Given the description of an element on the screen output the (x, y) to click on. 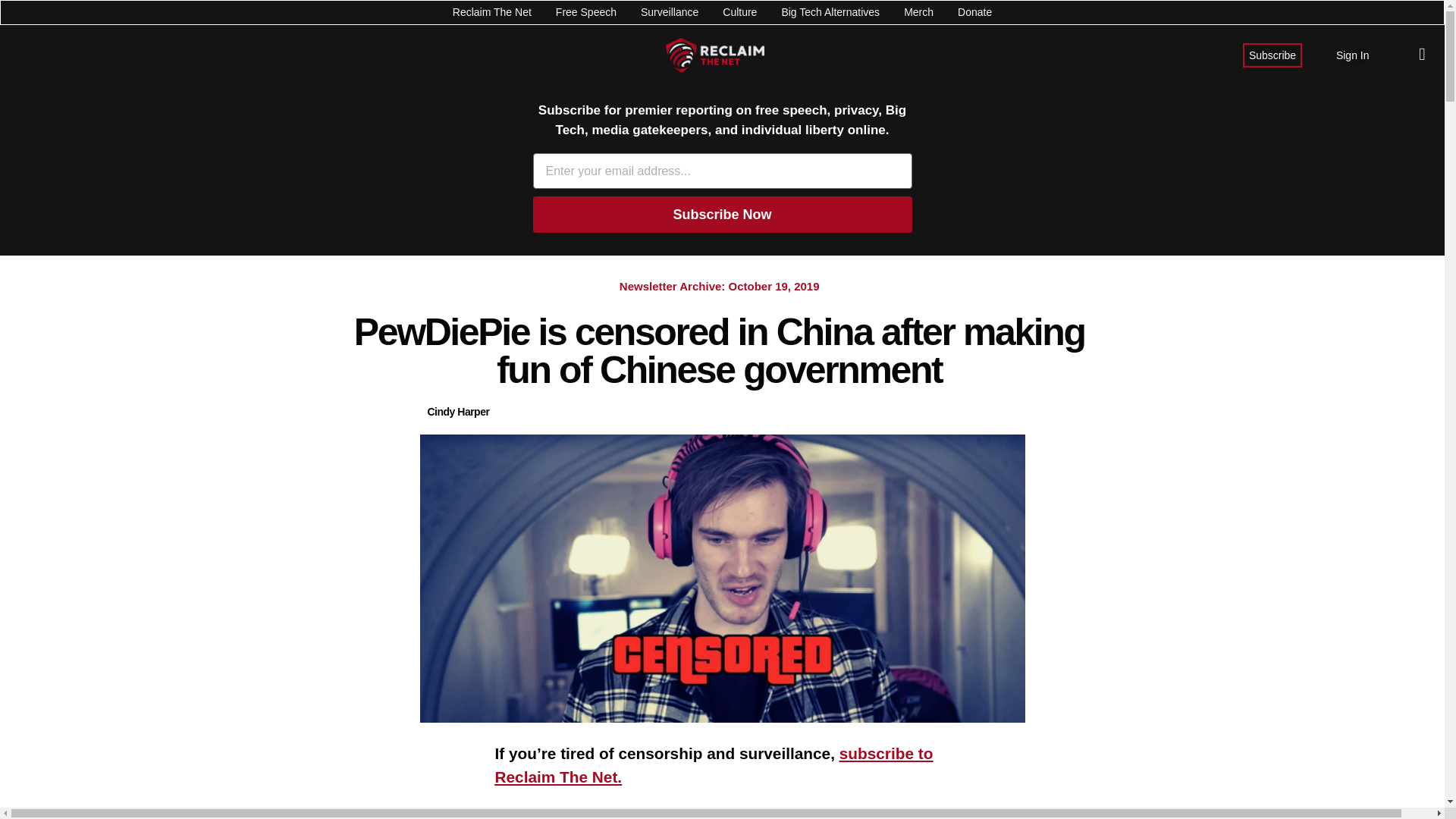
Subscribe (1272, 55)
Sign In (1353, 55)
Donate (974, 12)
Surveillance (669, 12)
Culture (739, 12)
Big Tech Alternatives (829, 12)
Subscribe Now (721, 214)
Free Speech (585, 12)
subscribe to Reclaim The Net. (714, 764)
Reclaim The Net (491, 12)
